Given the description of an element on the screen output the (x, y) to click on. 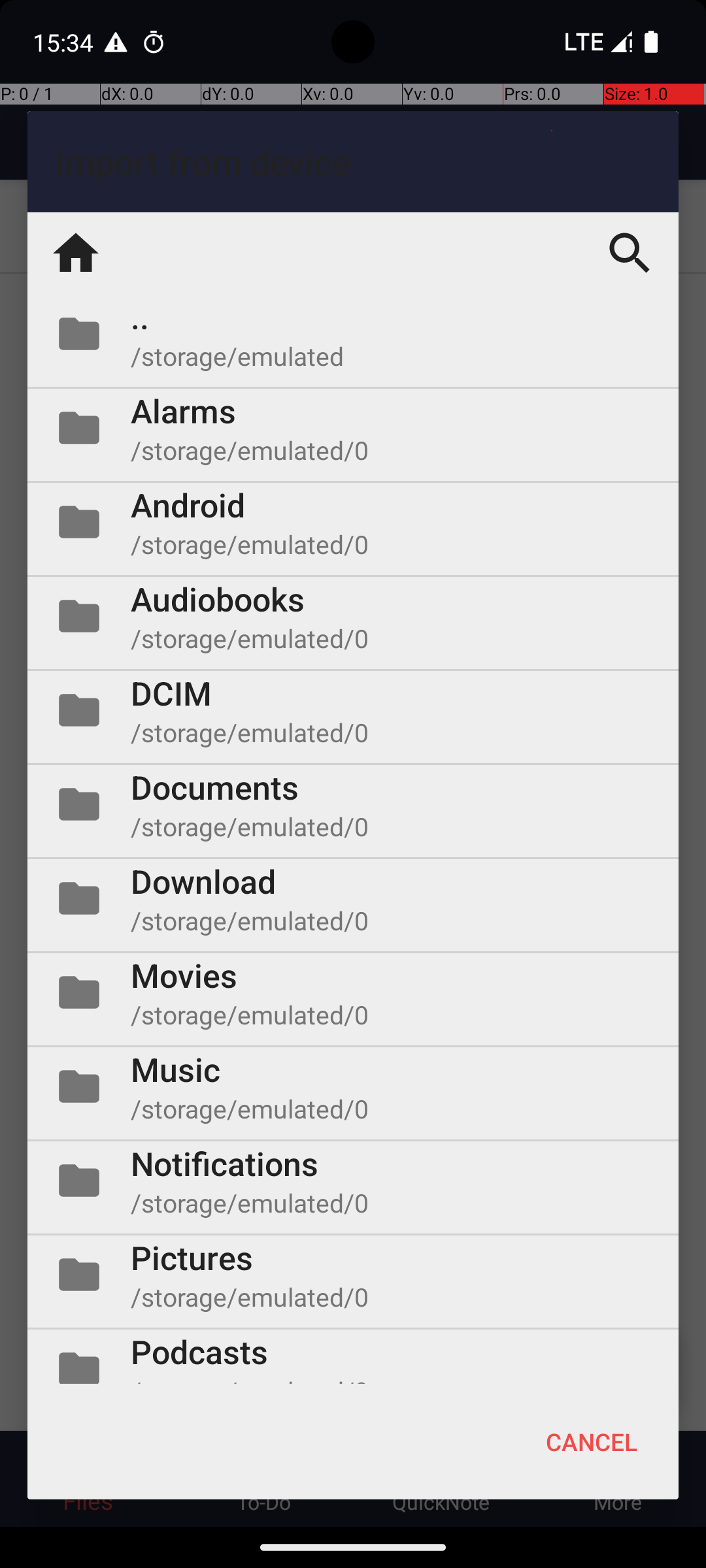
Import from device Element type: android.widget.TextView (352, 161)
Folder Alarms  Element type: android.widget.LinearLayout (352, 427)
Folder Android  Element type: android.widget.LinearLayout (352, 521)
Folder Audiobooks  Element type: android.widget.LinearLayout (352, 615)
Folder DCIM  Element type: android.widget.LinearLayout (352, 709)
Folder Documents  Element type: android.widget.LinearLayout (352, 804)
Folder Download  Element type: android.widget.LinearLayout (352, 898)
Folder Movies  Element type: android.widget.LinearLayout (352, 992)
Folder Music  Element type: android.widget.LinearLayout (352, 1086)
Folder Notifications  Element type: android.widget.LinearLayout (352, 1180)
Folder Pictures  Element type: android.widget.LinearLayout (352, 1274)
Folder Podcasts  Element type: android.widget.LinearLayout (352, 1356)
